Given the description of an element on the screen output the (x, y) to click on. 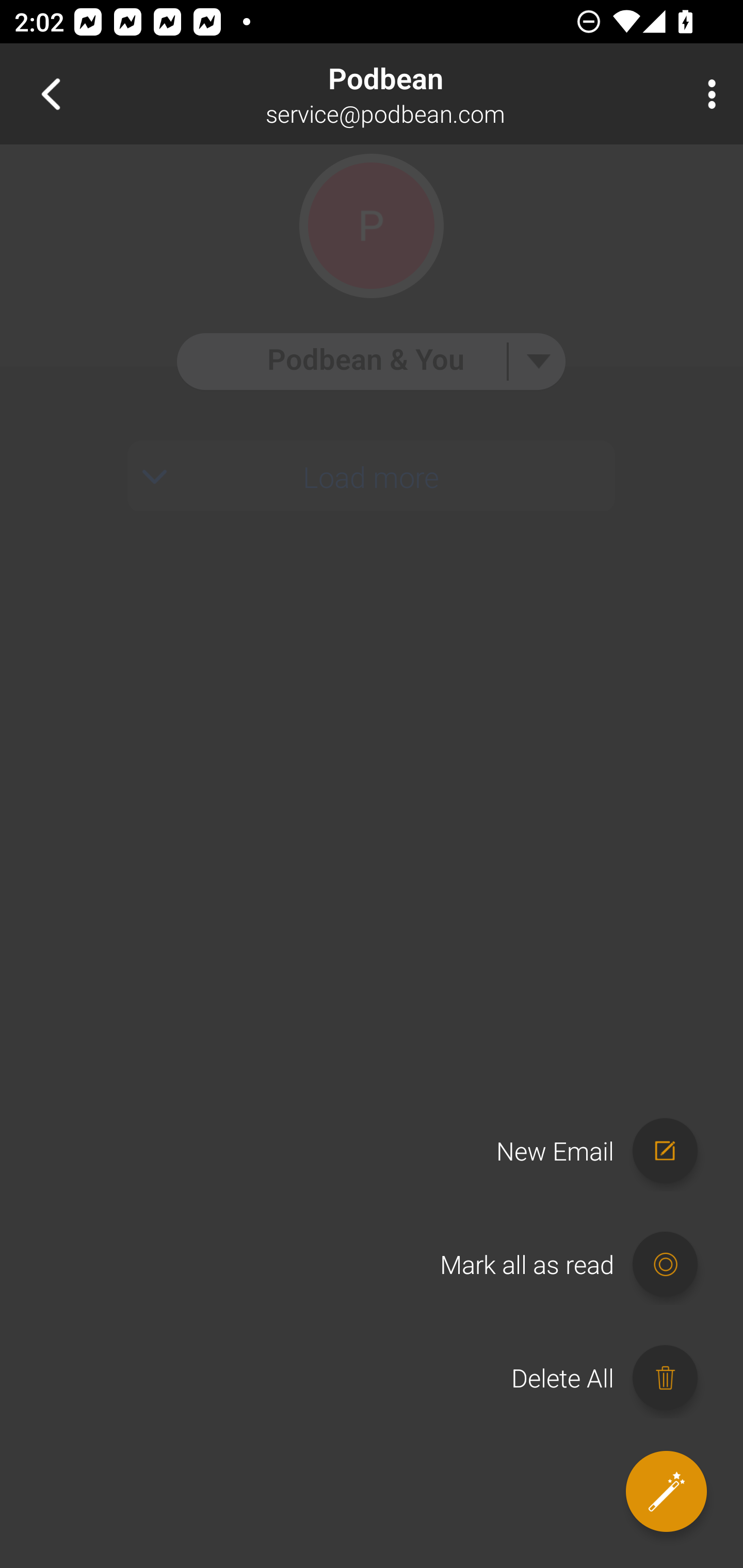
Navigate up (50, 93)
Podbean service@podbean.com (436, 93)
More Options (706, 93)
New Email (606, 1150)
Mark all as read (577, 1264)
Delete All (613, 1378)
